Given the description of an element on the screen output the (x, y) to click on. 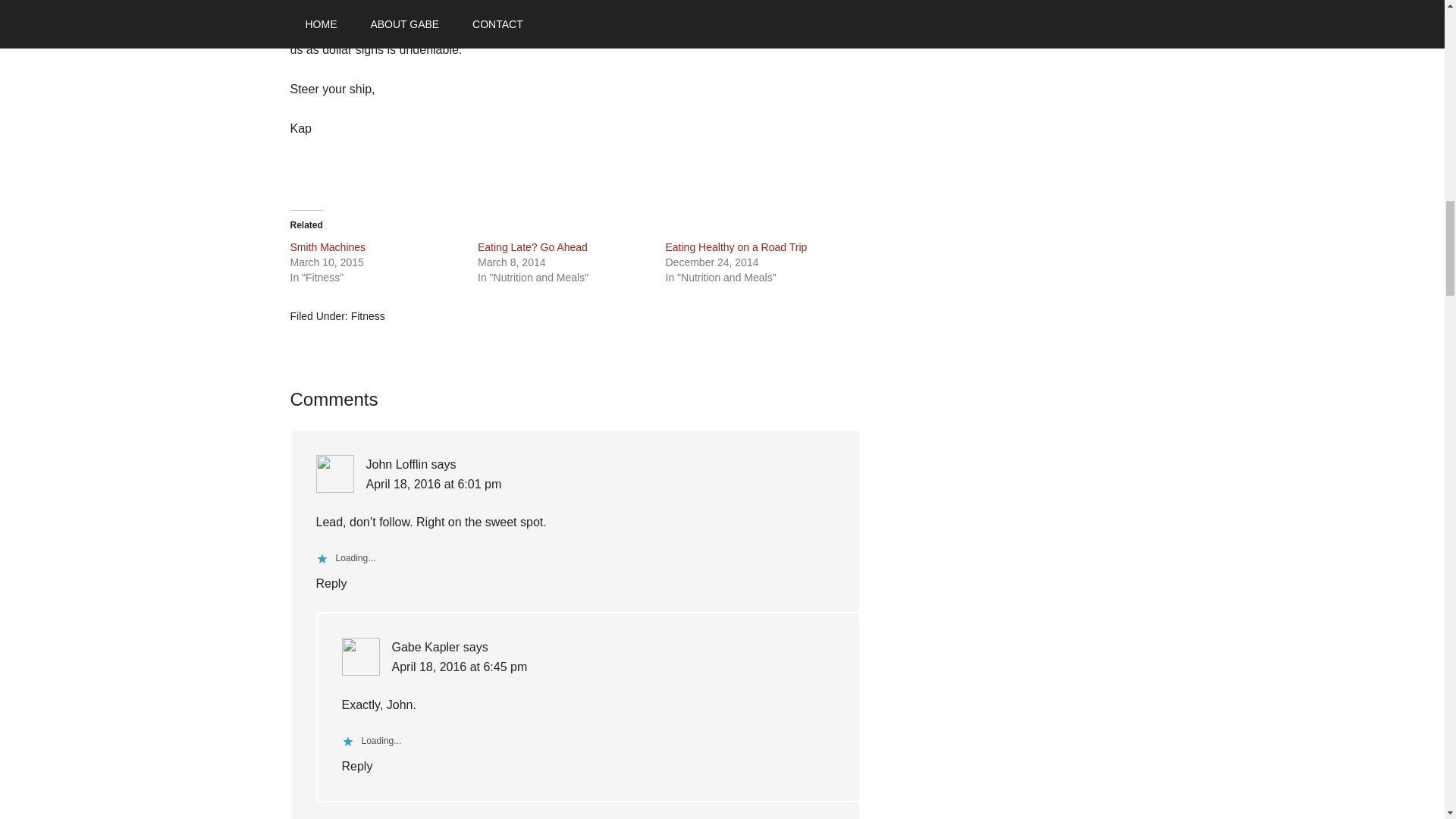
Eating Late? Go Ahead (532, 246)
Smith Machines (327, 246)
Eating Late? Go Ahead (532, 246)
Eating Healthy on a Road Trip (736, 246)
Gabe Kapler (425, 646)
Fitness (367, 316)
Smith Machines (327, 246)
Reply (330, 583)
April 18, 2016 at 6:45 pm (459, 666)
April 18, 2016 at 6:01 pm (432, 483)
Eating Healthy on a Road Trip (736, 246)
Reply (356, 766)
